Given the description of an element on the screen output the (x, y) to click on. 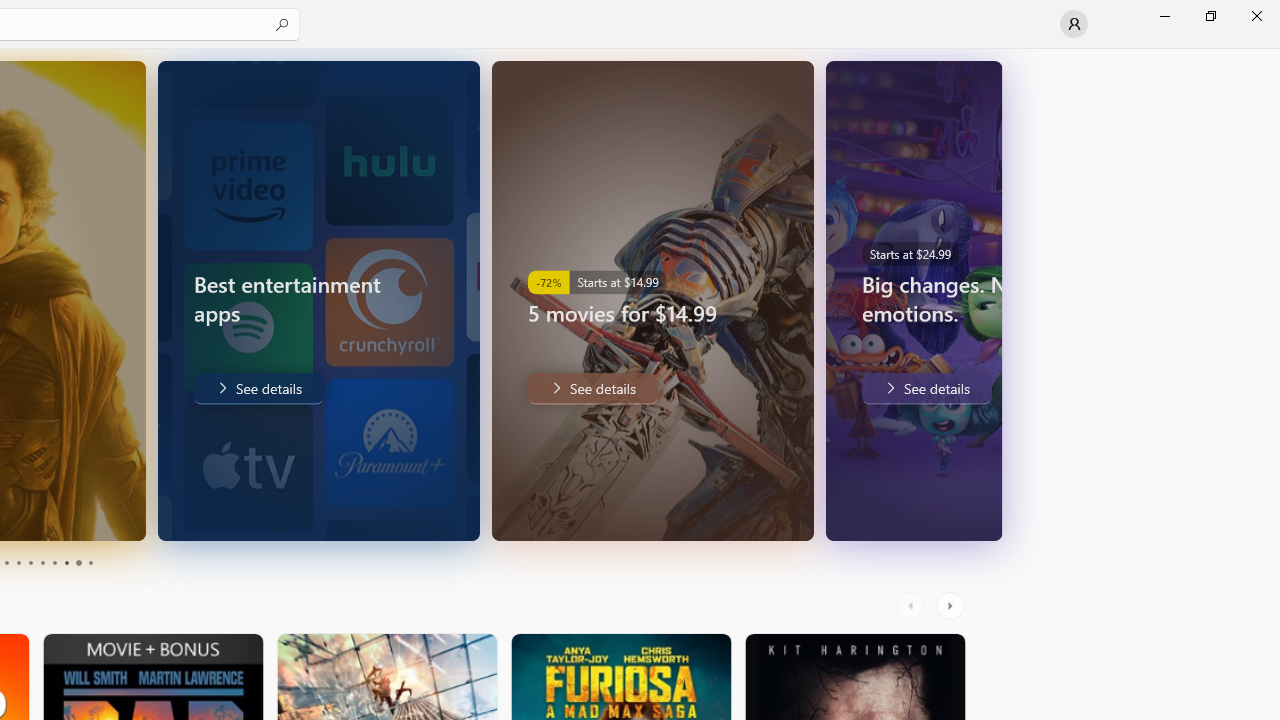
Page 10 (90, 562)
